Given the description of an element on the screen output the (x, y) to click on. 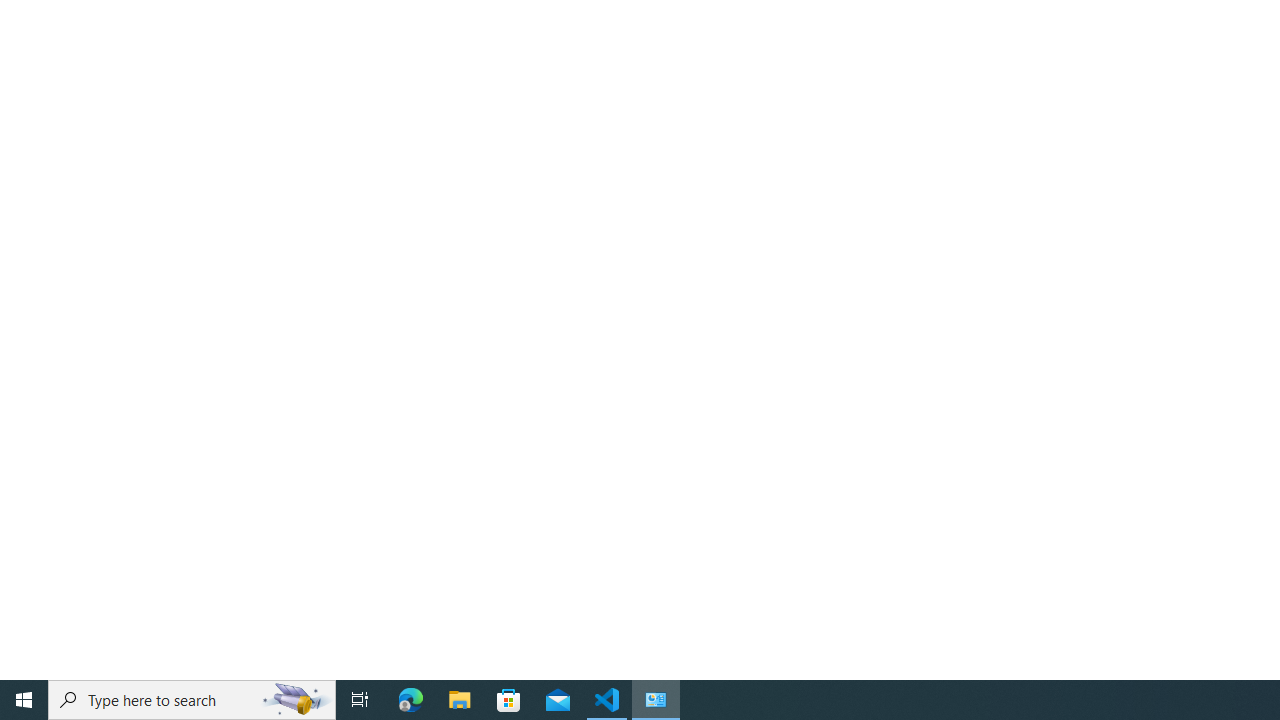
Visual Studio Code - 1 running window (607, 699)
Type here to search (191, 699)
Task View (359, 699)
File Explorer (460, 699)
Start (24, 699)
Microsoft Edge (411, 699)
Microsoft Store (509, 699)
Control Panel - 1 running window (656, 699)
Search highlights icon opens search home window (295, 699)
